Given the description of an element on the screen output the (x, y) to click on. 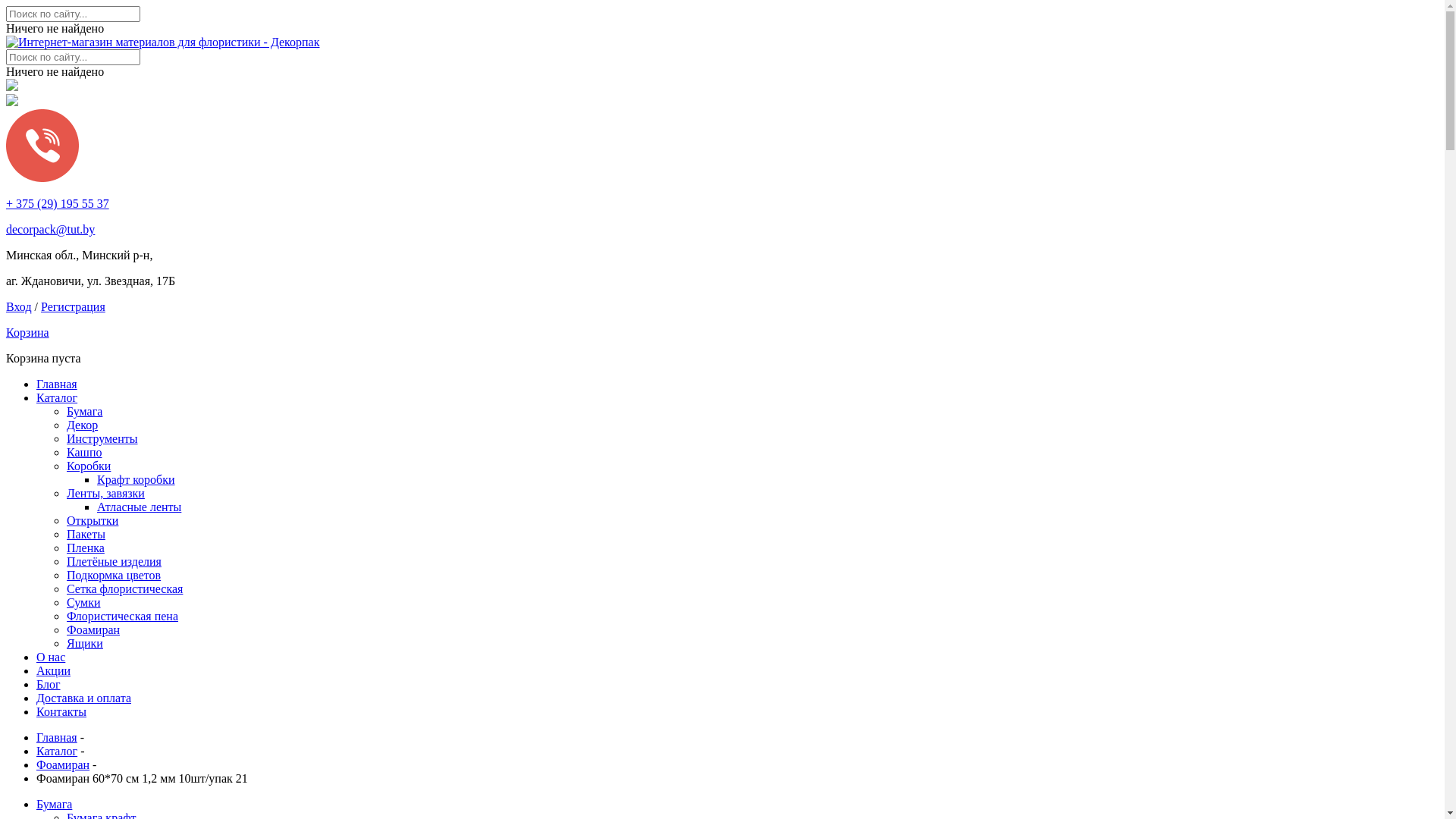
decorpack@tut.by Element type: text (50, 228)
+ 375 (29) 195 55 37 Element type: text (57, 203)
